Given the description of an element on the screen output the (x, y) to click on. 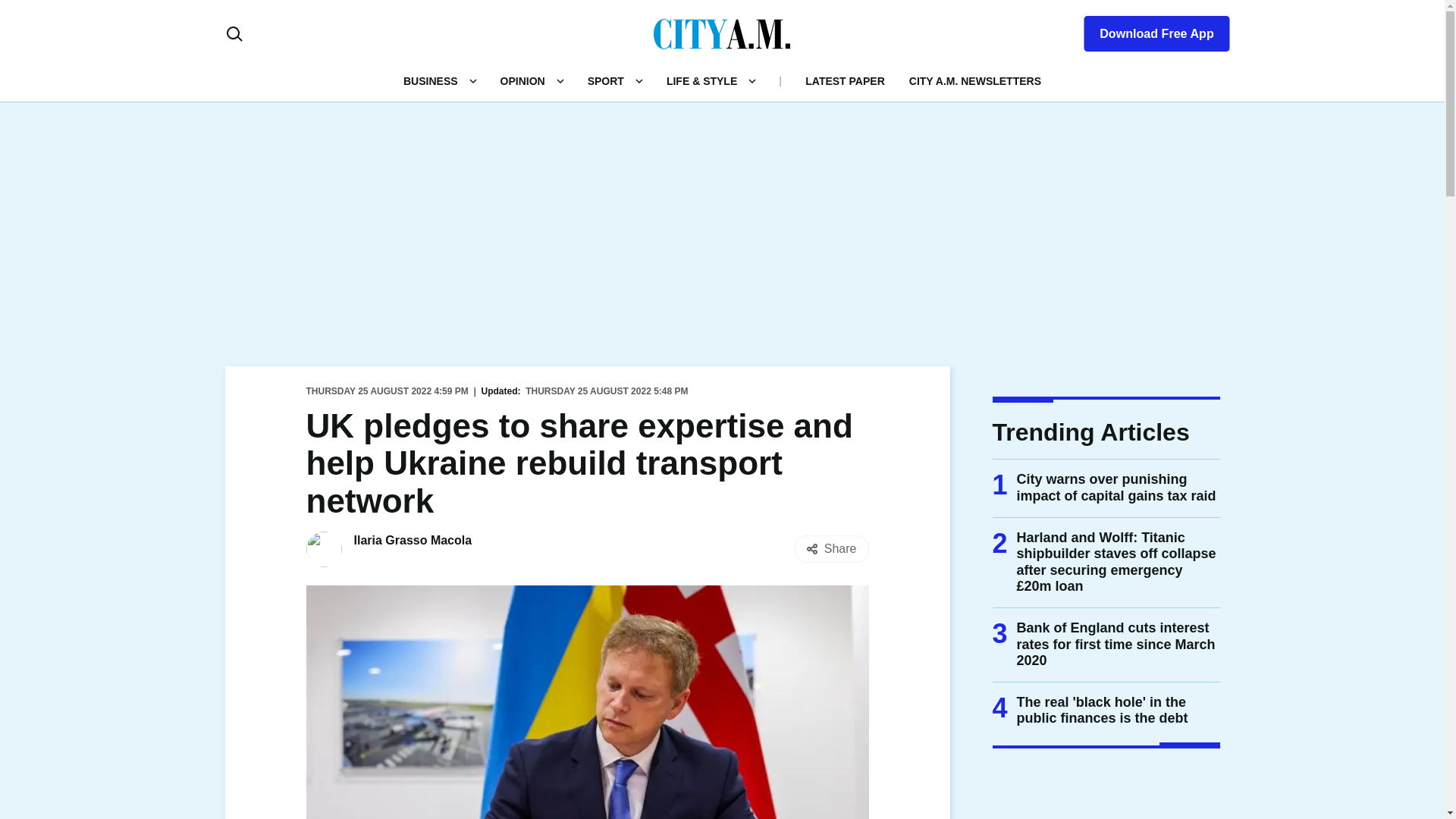
OPINION (522, 80)
Download Free App (1146, 30)
CityAM (721, 33)
BUSINESS (430, 80)
SPORT (606, 80)
